Given the description of an element on the screen output the (x, y) to click on. 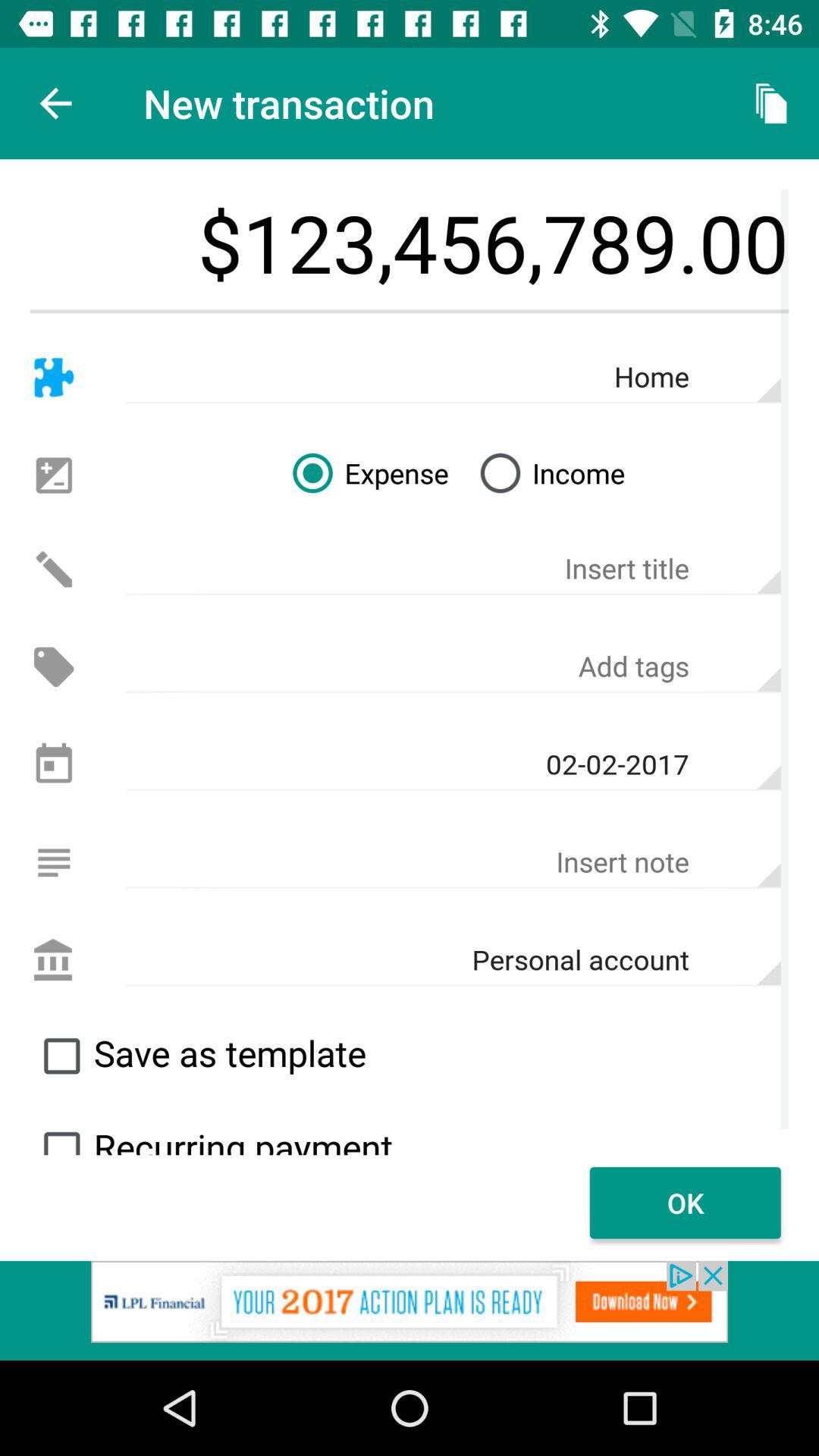
select checkbox (61, 1056)
